Given the description of an element on the screen output the (x, y) to click on. 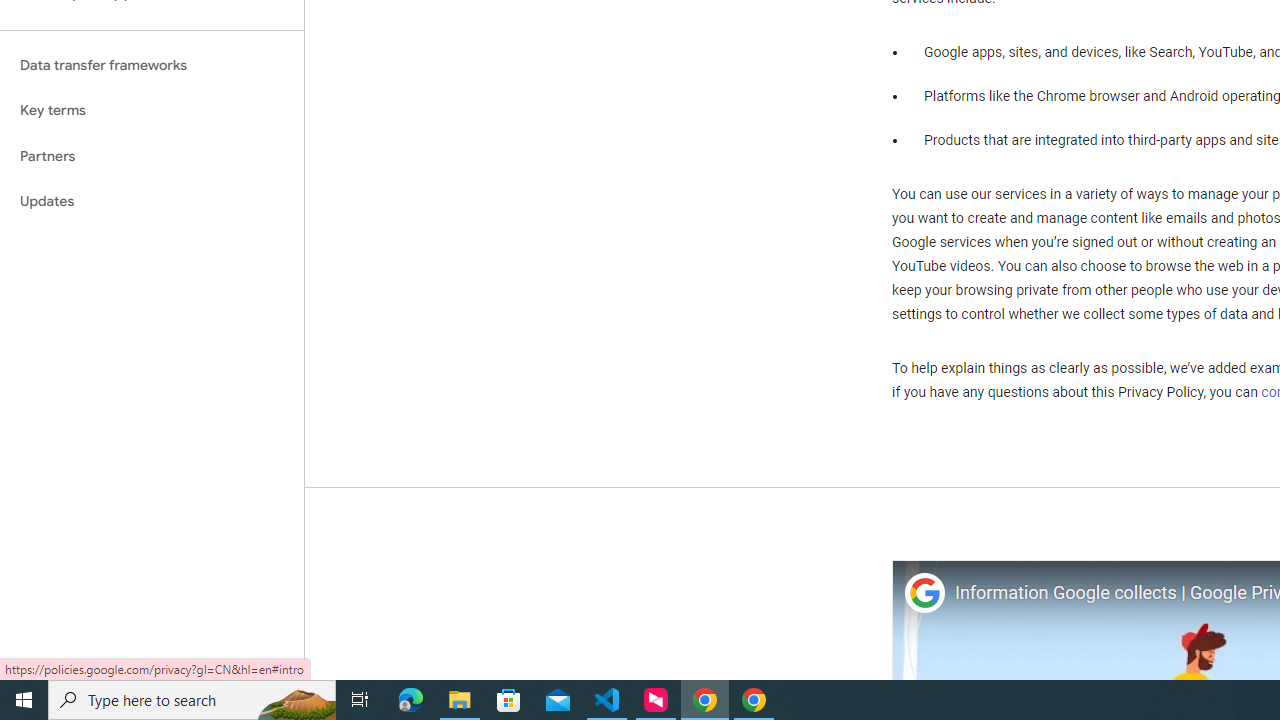
Partners (152, 156)
Photo image of Google (924, 593)
Updates (152, 201)
Data transfer frameworks (152, 65)
Key terms (152, 110)
